Given the description of an element on the screen output the (x, y) to click on. 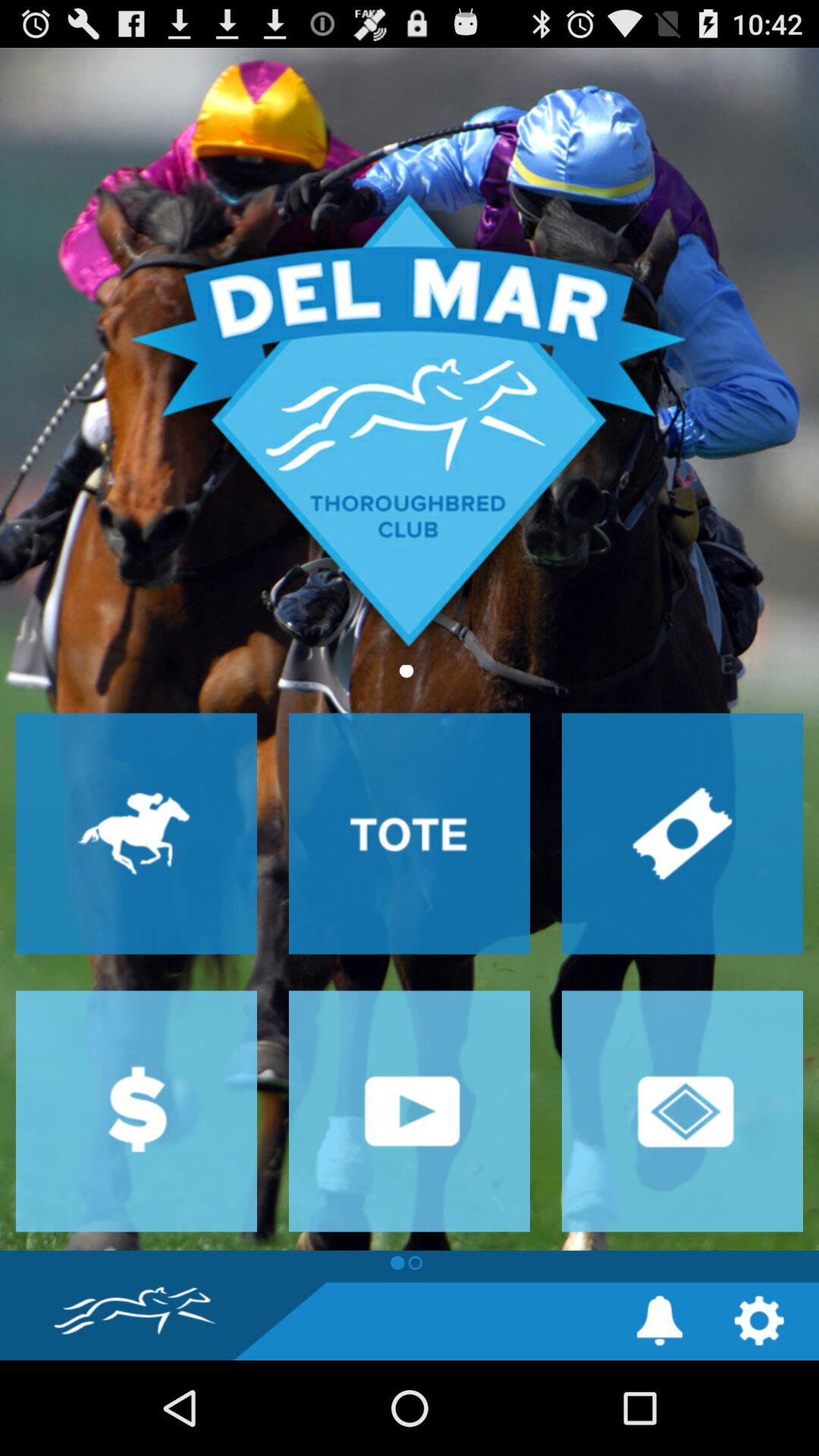
drill down into tote page (409, 833)
